Given the description of an element on the screen output the (x, y) to click on. 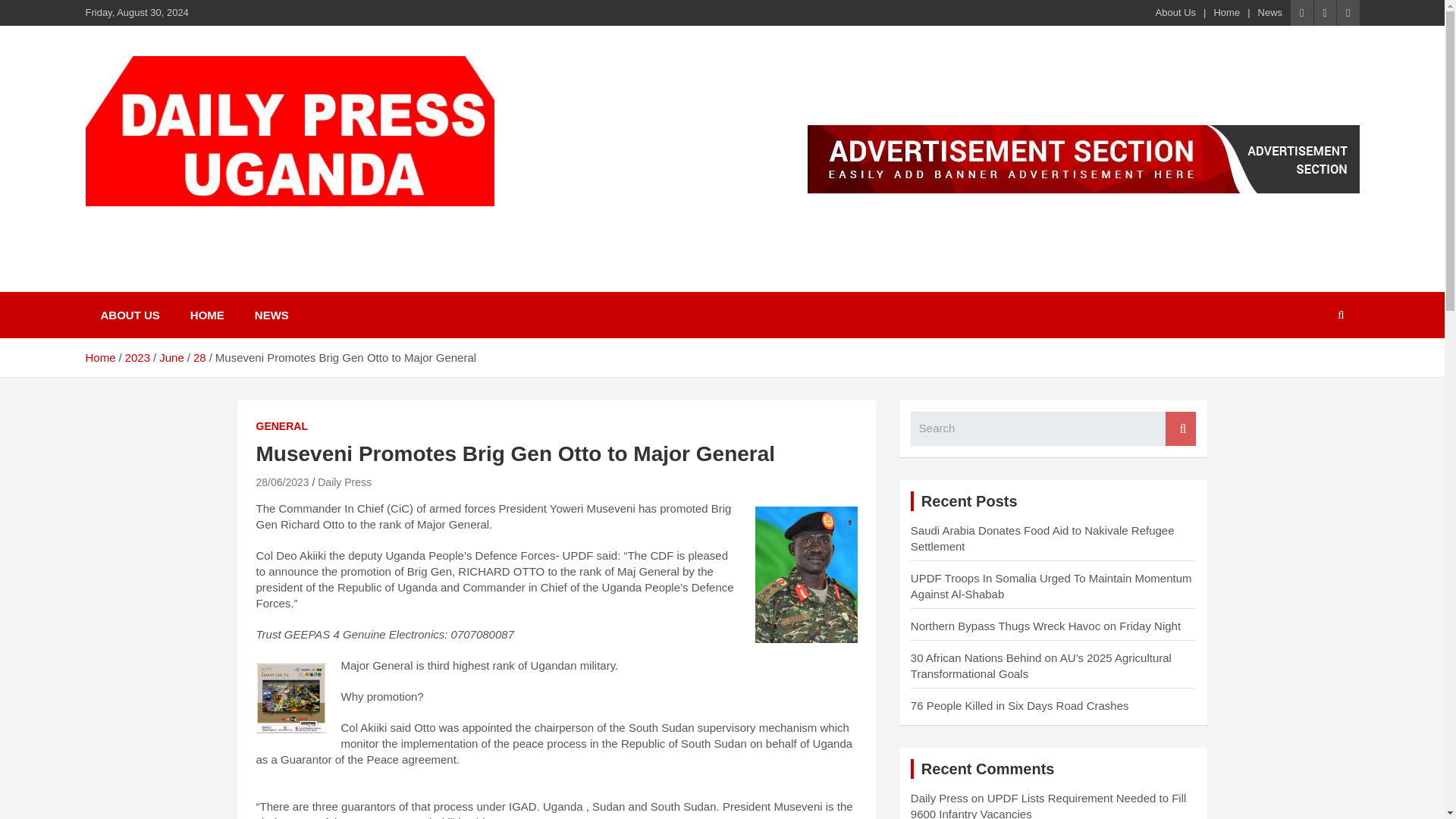
Daily Press (344, 481)
Museveni Promotes Brig Gen Otto to Major General (282, 481)
NEWS (272, 314)
News (1269, 12)
Daily Press (939, 797)
June (171, 357)
About Us (1175, 12)
2023 (137, 357)
Home (99, 357)
Northern Bypass Thugs Wreck Havoc on Friday Night (1045, 625)
